Given the description of an element on the screen output the (x, y) to click on. 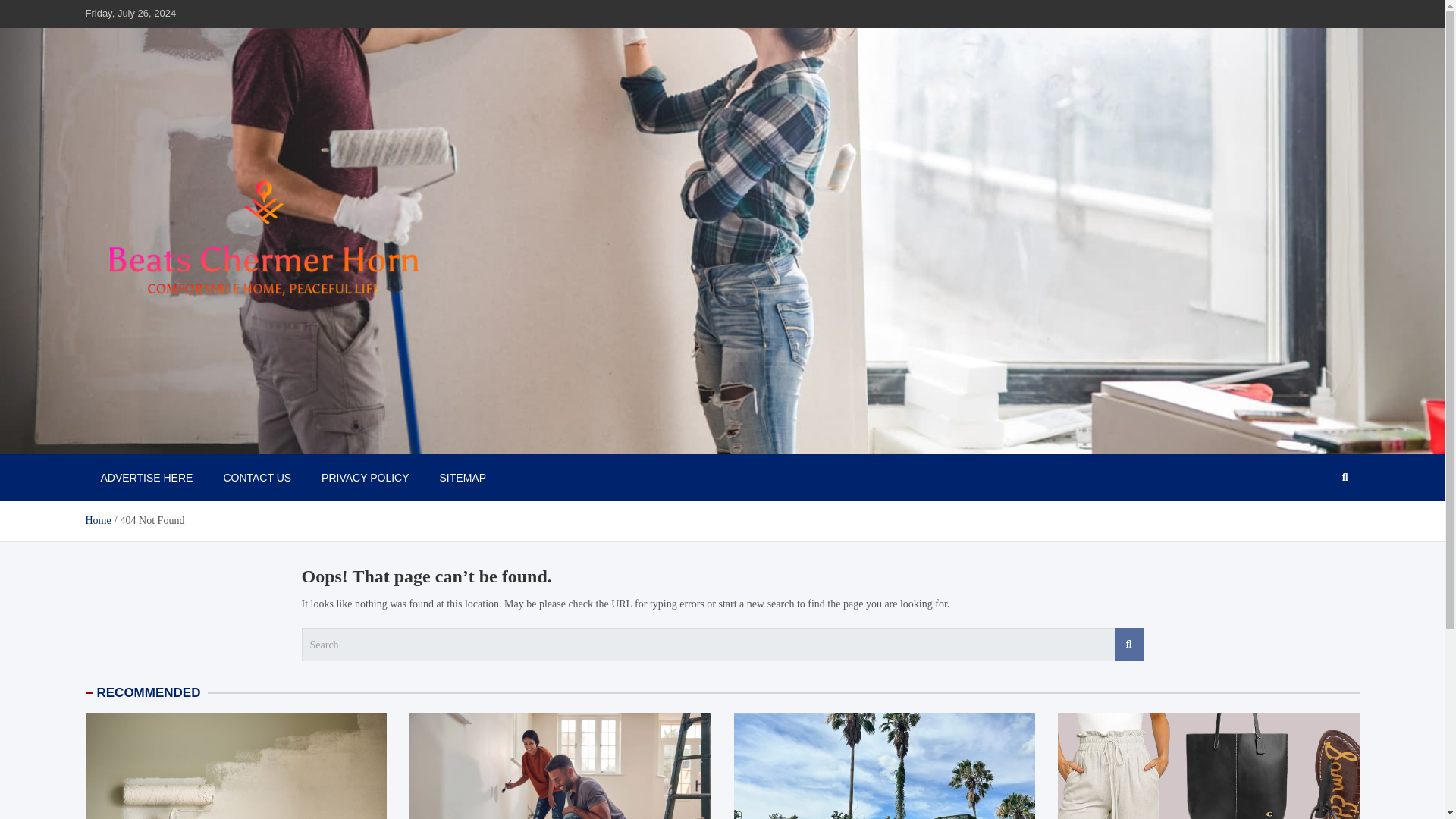
SITEMAP (462, 477)
CONTACT US (256, 477)
RECOMMENDED (148, 692)
Beats Chermer Horn (193, 437)
PRIVACY POLICY (364, 477)
ADVERTISE HERE (146, 477)
Home (97, 520)
